Given the description of an element on the screen output the (x, y) to click on. 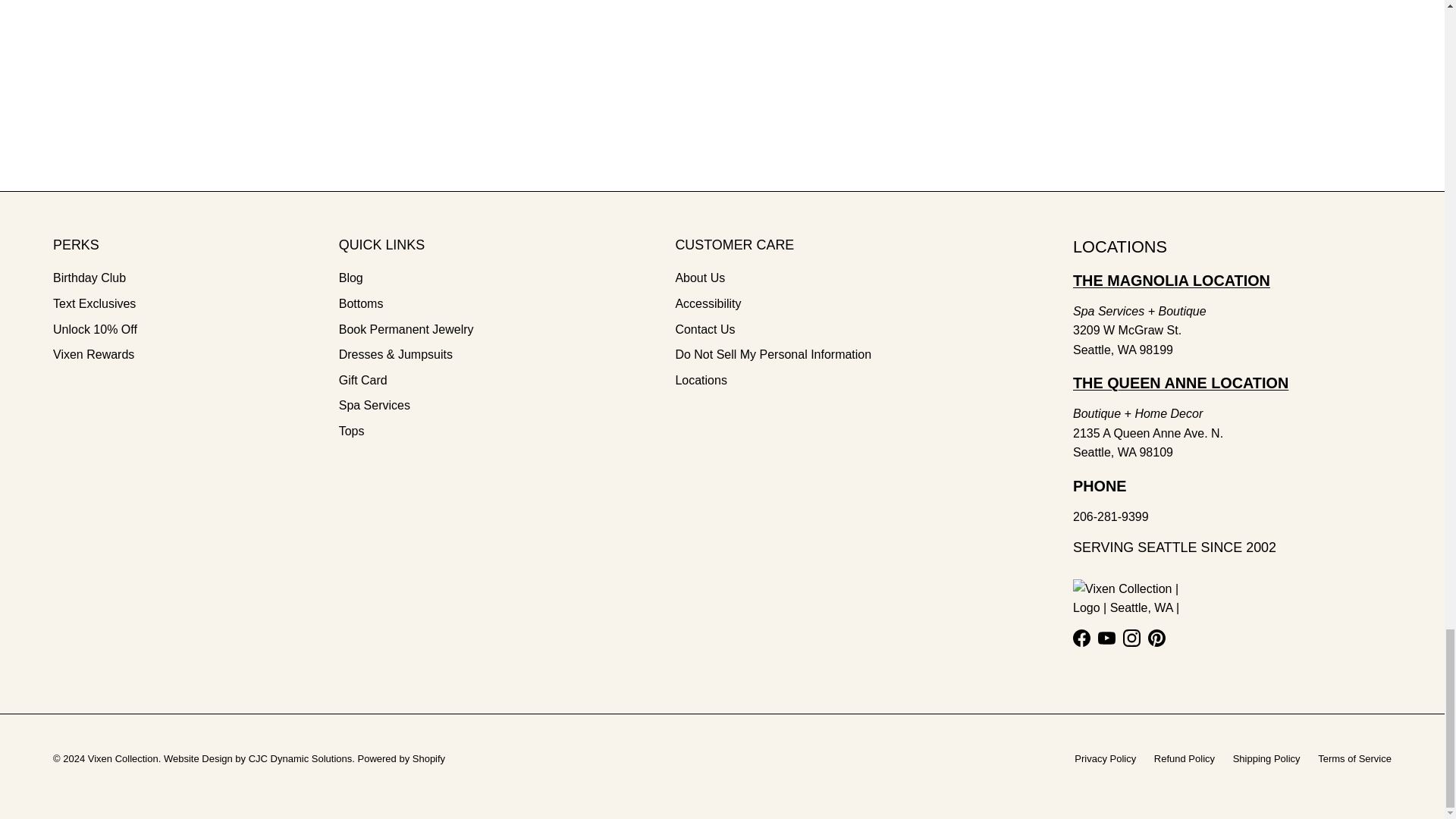
Vixen Collection on Pinterest (1157, 638)
Vixen Collection on YouTube (1106, 638)
Vixen Collection on Instagram (1131, 638)
Vixen Collection on Facebook (1081, 638)
